Given the description of an element on the screen output the (x, y) to click on. 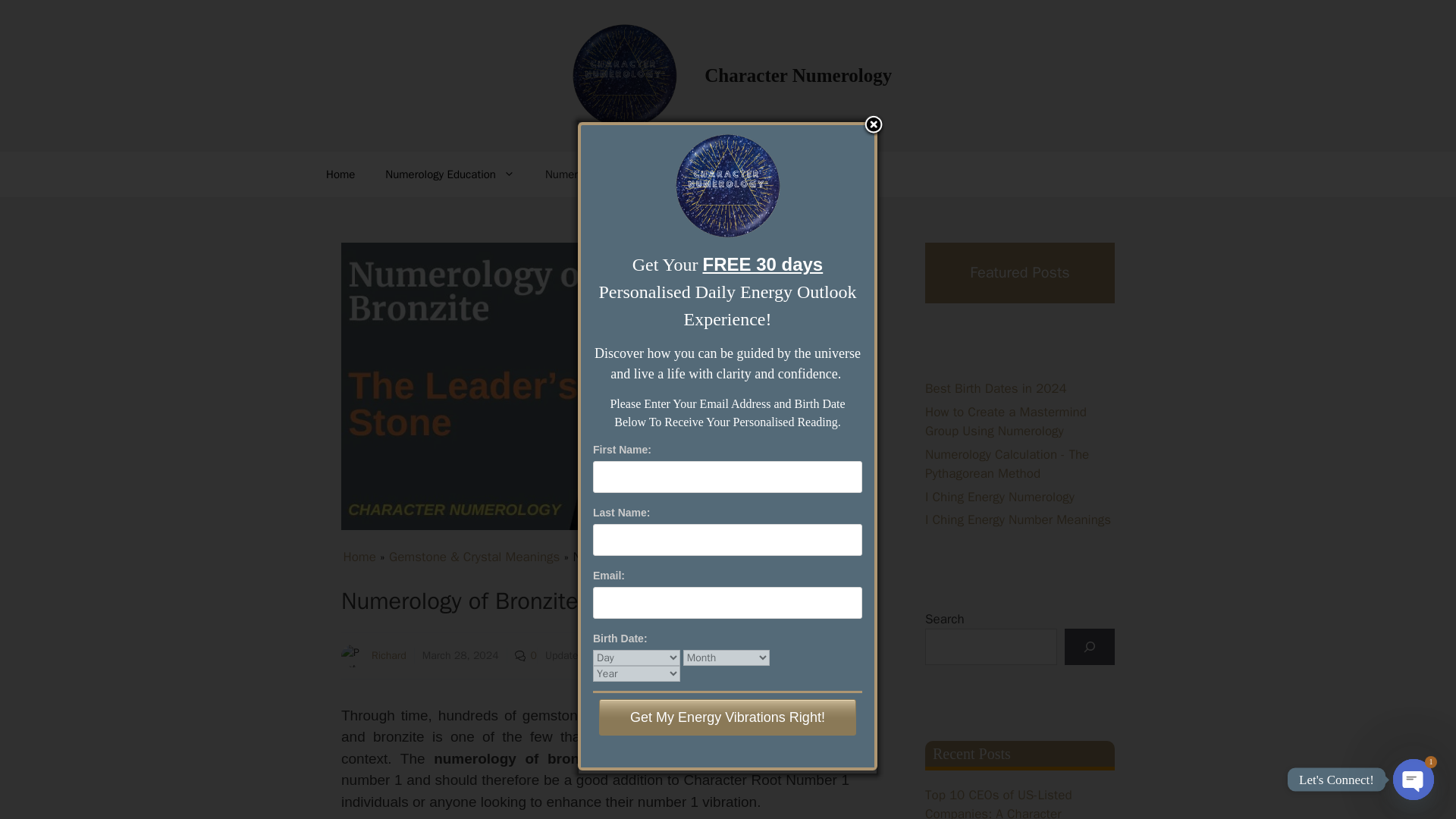
Home (340, 174)
Get My Energy Vibrations Right! (727, 717)
Character Numerology (797, 75)
Numerology Education (449, 174)
Numerology Blog (595, 174)
Home (358, 556)
Empowering You (727, 174)
